Given the description of an element on the screen output the (x, y) to click on. 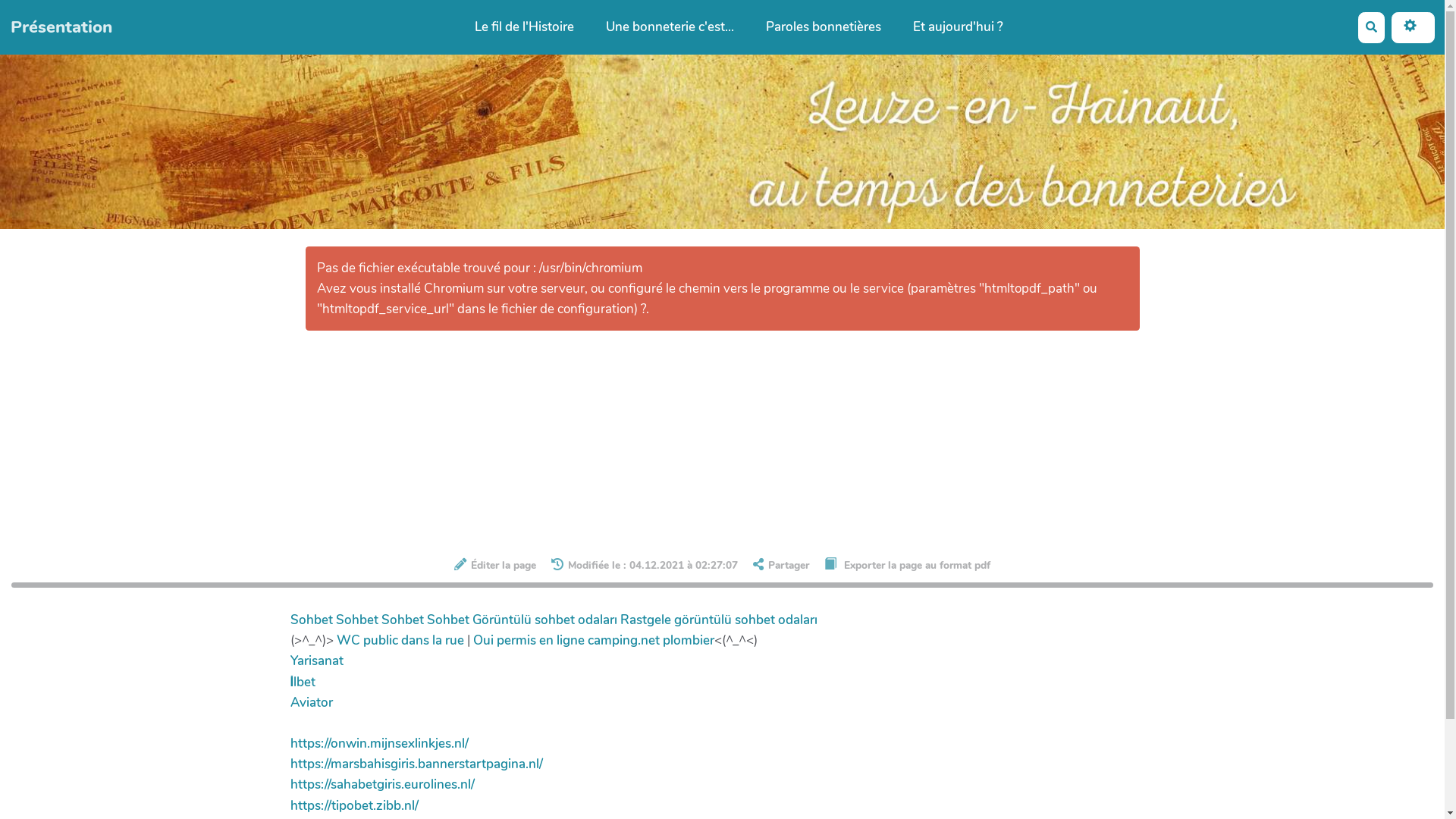
WC public dans la rue Element type: text (400, 640)
Et aujourd'hui ? Element type: text (957, 27)
Sohbet Element type: text (401, 619)
Aviator Element type: text (310, 702)
https://marsbahisgiris.bannerstartpagina.nl/ Element type: text (415, 763)
Sohbet Element type: text (356, 619)
https://onwin.mijnsexlinkjes.nl/ Element type: text (378, 743)
Rechercher Element type: text (1370, 27)
Sohbet Element type: text (447, 619)
Exporter la page au format pdf Element type: text (907, 564)
Partager Element type: text (780, 564)
Une bonneterie c'est... Element type: text (669, 27)
plombier Element type: text (688, 640)
camping.net Element type: text (622, 640)
Le fil de l'Histoire Element type: text (523, 27)
Sohbet Element type: text (310, 619)
https://tipobet.zibb.nl/ Element type: text (353, 805)
Yarisanat Element type: text (315, 660)
Oui permis en ligne Element type: text (528, 640)
https://sahabetgiris.eurolines.nl/ Element type: text (381, 784)
